Given the description of an element on the screen output the (x, y) to click on. 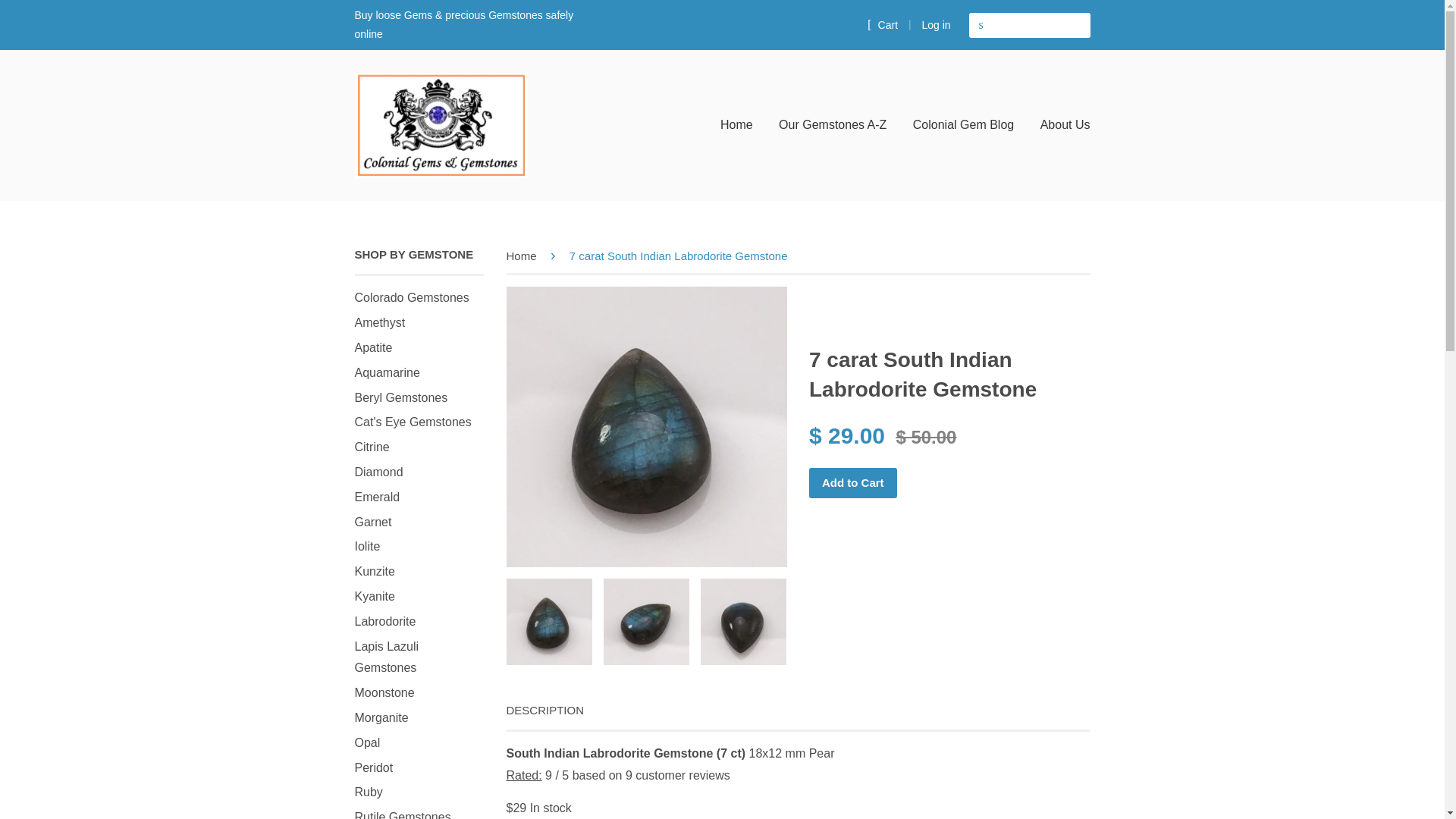
Cart (882, 24)
Log in (935, 24)
Back to the frontpage (523, 255)
Search (980, 25)
